Given the description of an element on the screen output the (x, y) to click on. 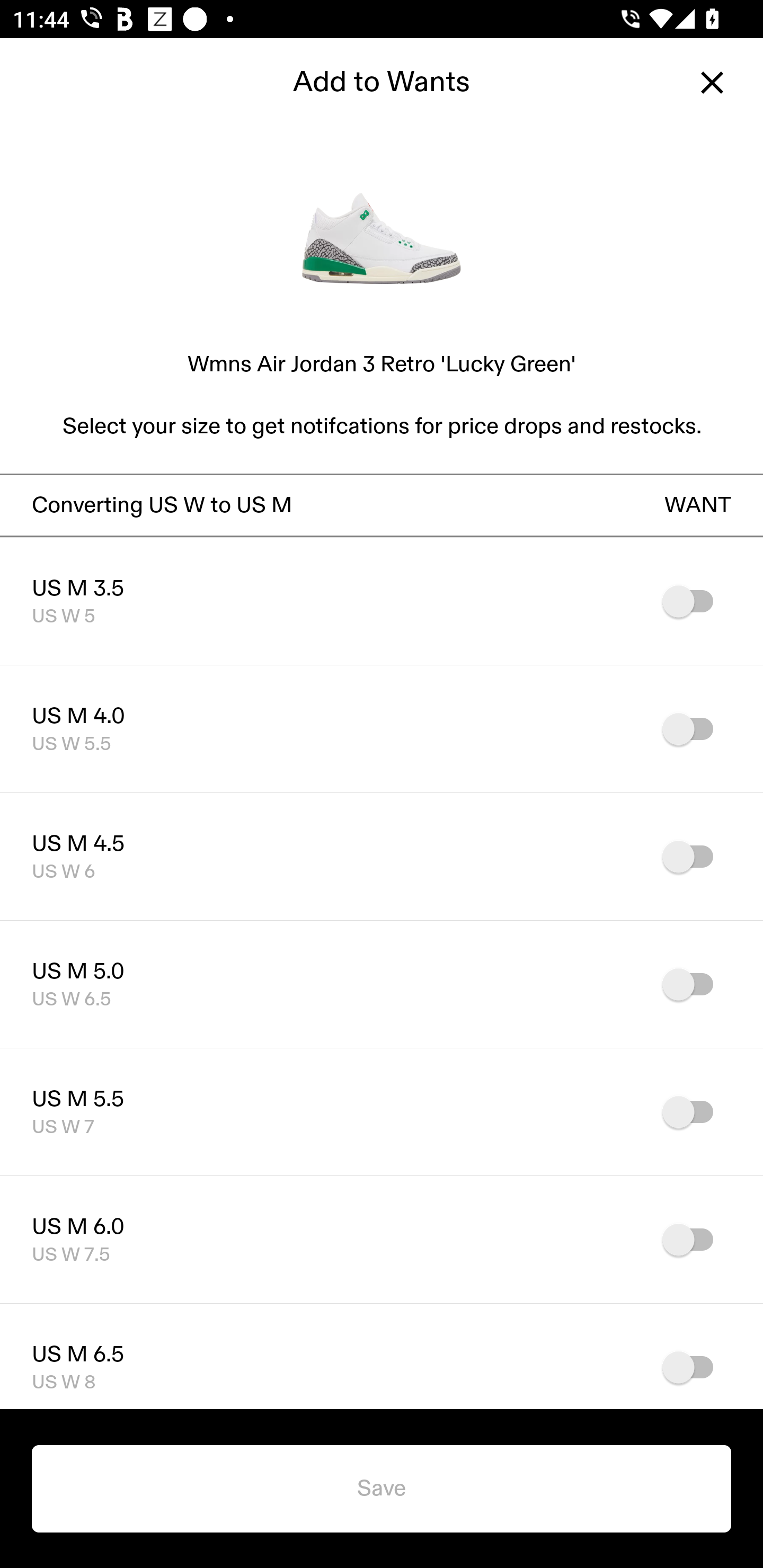
Save (381, 1488)
